Given the description of an element on the screen output the (x, y) to click on. 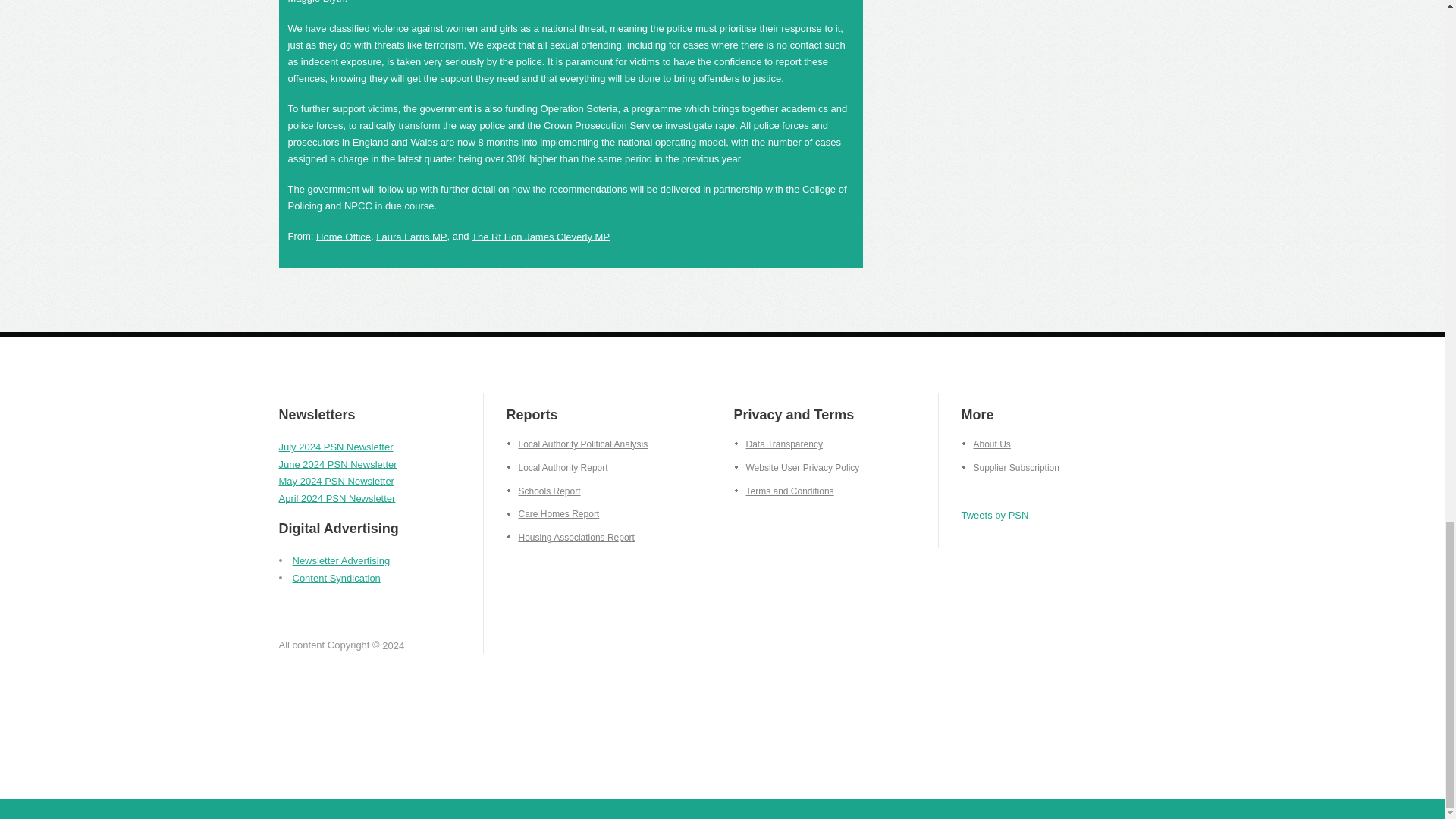
The Rt Hon James Cleverly MP (540, 235)
Website User Privacy Policy (796, 467)
Local Authority Report (557, 467)
Content Syndication (336, 577)
Newsletter Advertising (341, 560)
May 2024 PSN Newsletter (336, 480)
Local Authority Political Analysis (576, 443)
July 2024 PSN Newsletter (336, 446)
Home Office (343, 235)
Tweets by PSN (994, 514)
Care Homes Report (552, 513)
April 2024 PSN Newsletter (337, 497)
Data Transparency (777, 443)
Schools Report (543, 491)
About Us (985, 443)
